Given the description of an element on the screen output the (x, y) to click on. 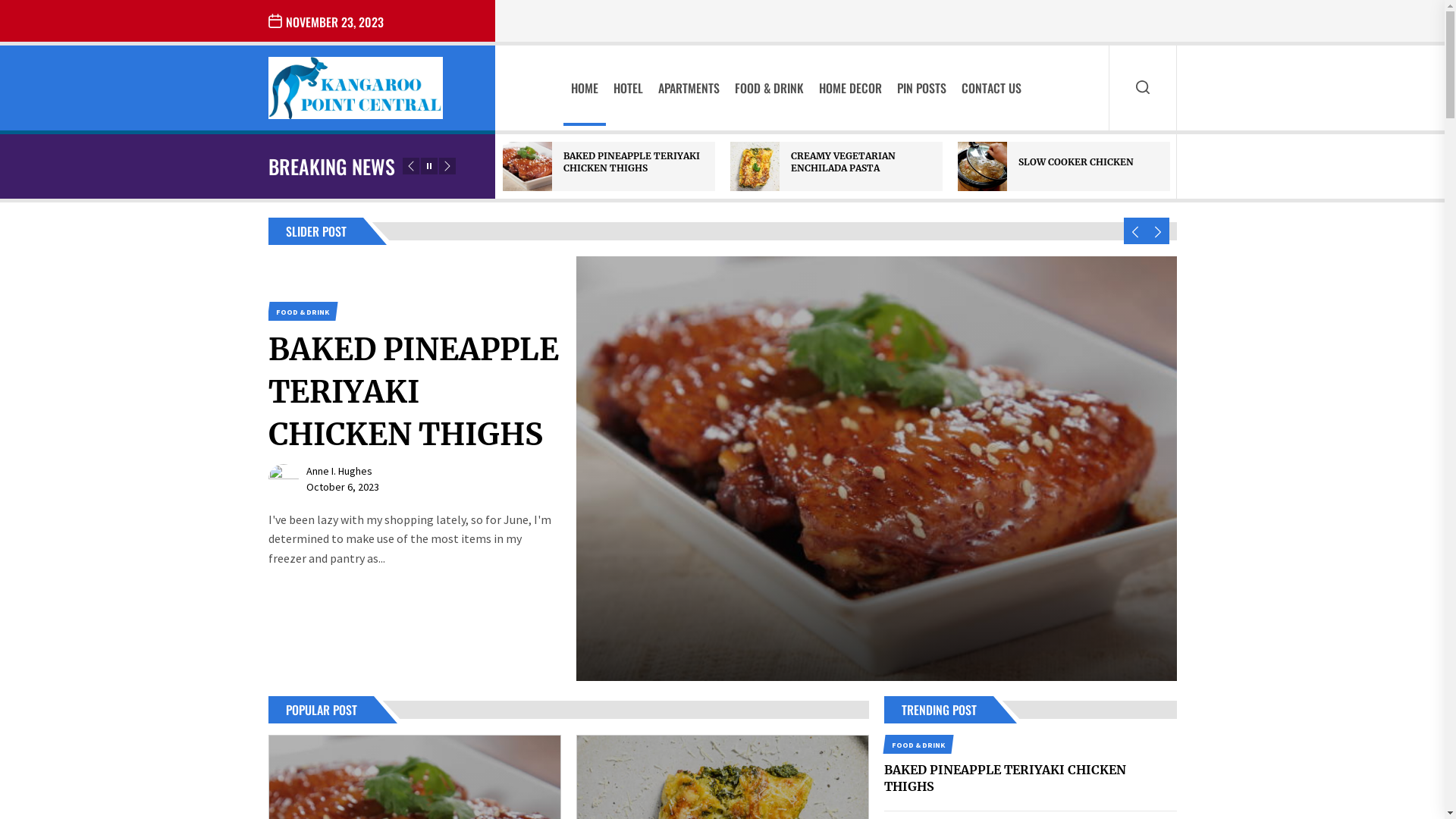
CREAMY VEGETARIAN ENCHILADA PASTA Element type: text (842, 162)
FOOD & DRINK Element type: text (768, 87)
October 6, 2023 Element type: text (342, 529)
APARTMENTS Element type: text (688, 87)
HOME Element type: text (584, 87)
SNAP CHALLENGE: CREAMY CHICKEN AND BLACK BEAN ENCHILADAS Element type: text (414, 412)
FOOD & DRINK Element type: text (300, 310)
Anne I. Hughes Element type: text (339, 513)
PIN POSTS Element type: text (921, 87)
BAKED PINEAPPLE TERIYAKI CHICKEN THIGHS Element type: text (1005, 777)
BAKED PINEAPPLE TERIYAKI CHICKEN THIGHS Element type: text (631, 162)
HOTEL Element type: text (628, 87)
SLOW COOKER CHICKEN Element type: text (1075, 161)
FOOD & DRINK Element type: text (916, 743)
CONTACT US Element type: text (991, 87)
HOME DECOR Element type: text (850, 87)
